Given the description of an element on the screen output the (x, y) to click on. 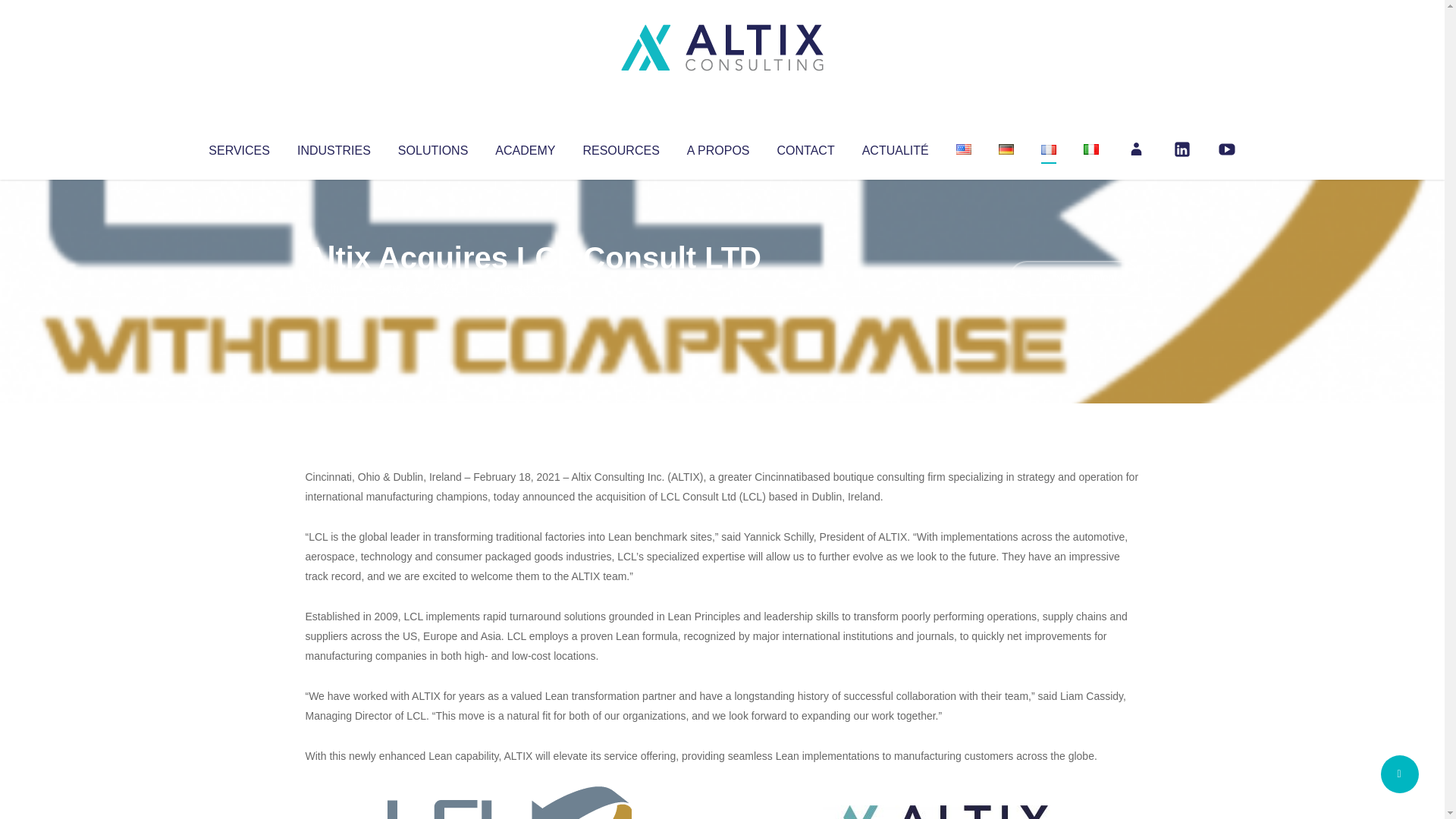
No Comments (1073, 278)
Altix (333, 287)
RESOURCES (620, 146)
Uncategorized (530, 287)
Articles par Altix (333, 287)
INDUSTRIES (334, 146)
A PROPOS (718, 146)
SOLUTIONS (432, 146)
SERVICES (238, 146)
ACADEMY (524, 146)
